Given the description of an element on the screen output the (x, y) to click on. 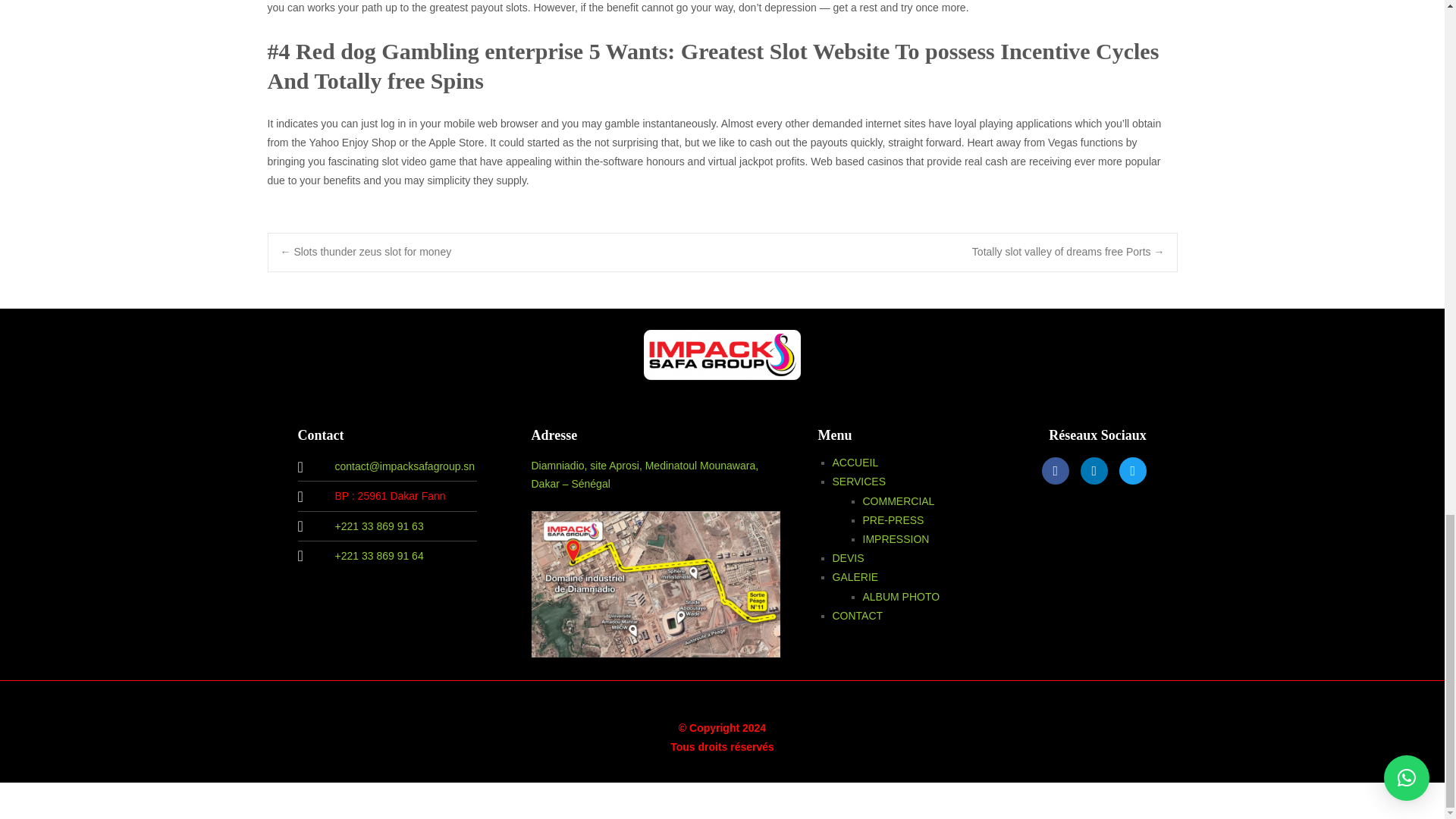
ACCUEIL (855, 462)
